Given the description of an element on the screen output the (x, y) to click on. 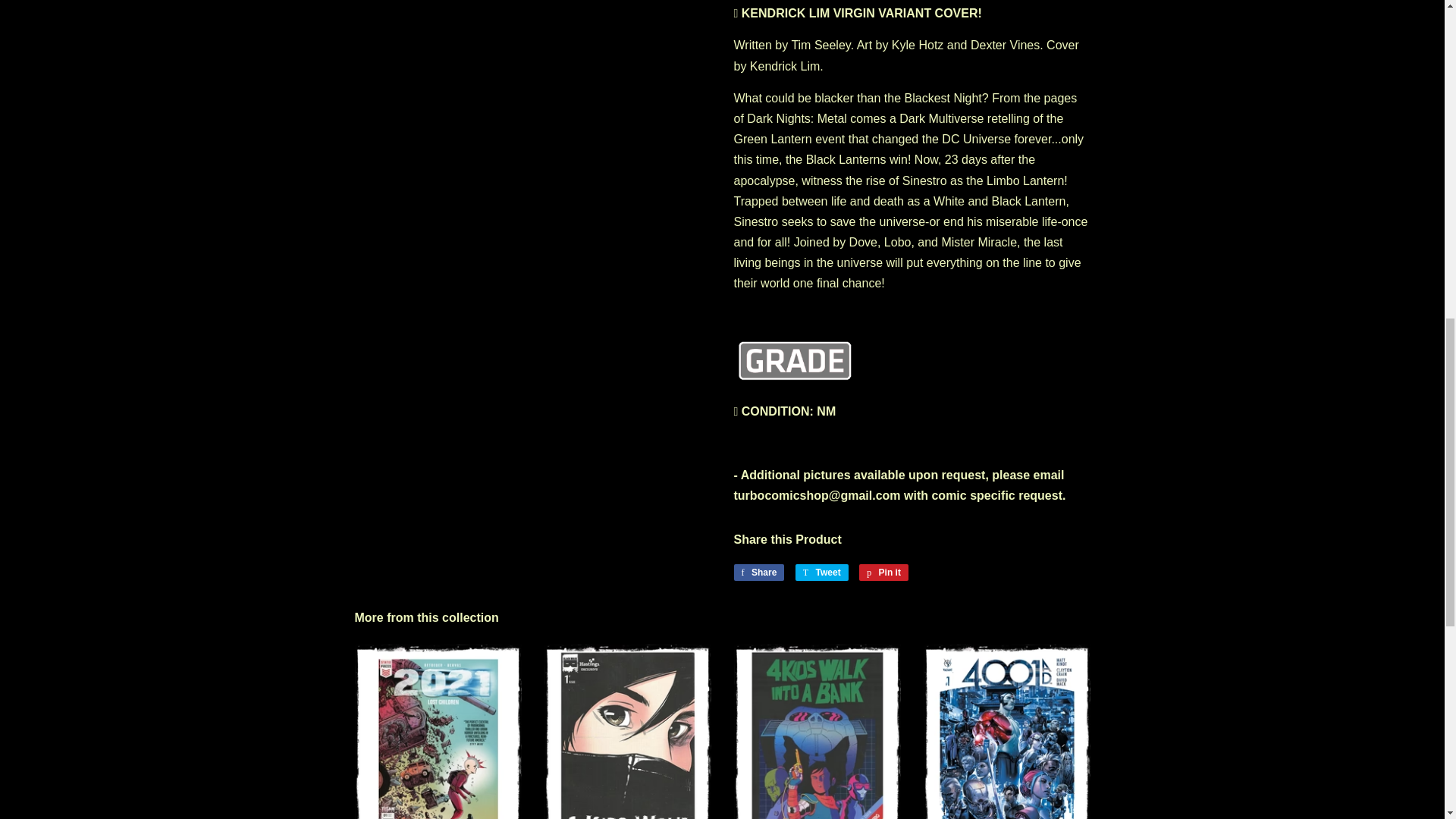
Pin on Pinterest (883, 572)
Share on Facebook (758, 572)
Tweet on Twitter (821, 572)
